Given the description of an element on the screen output the (x, y) to click on. 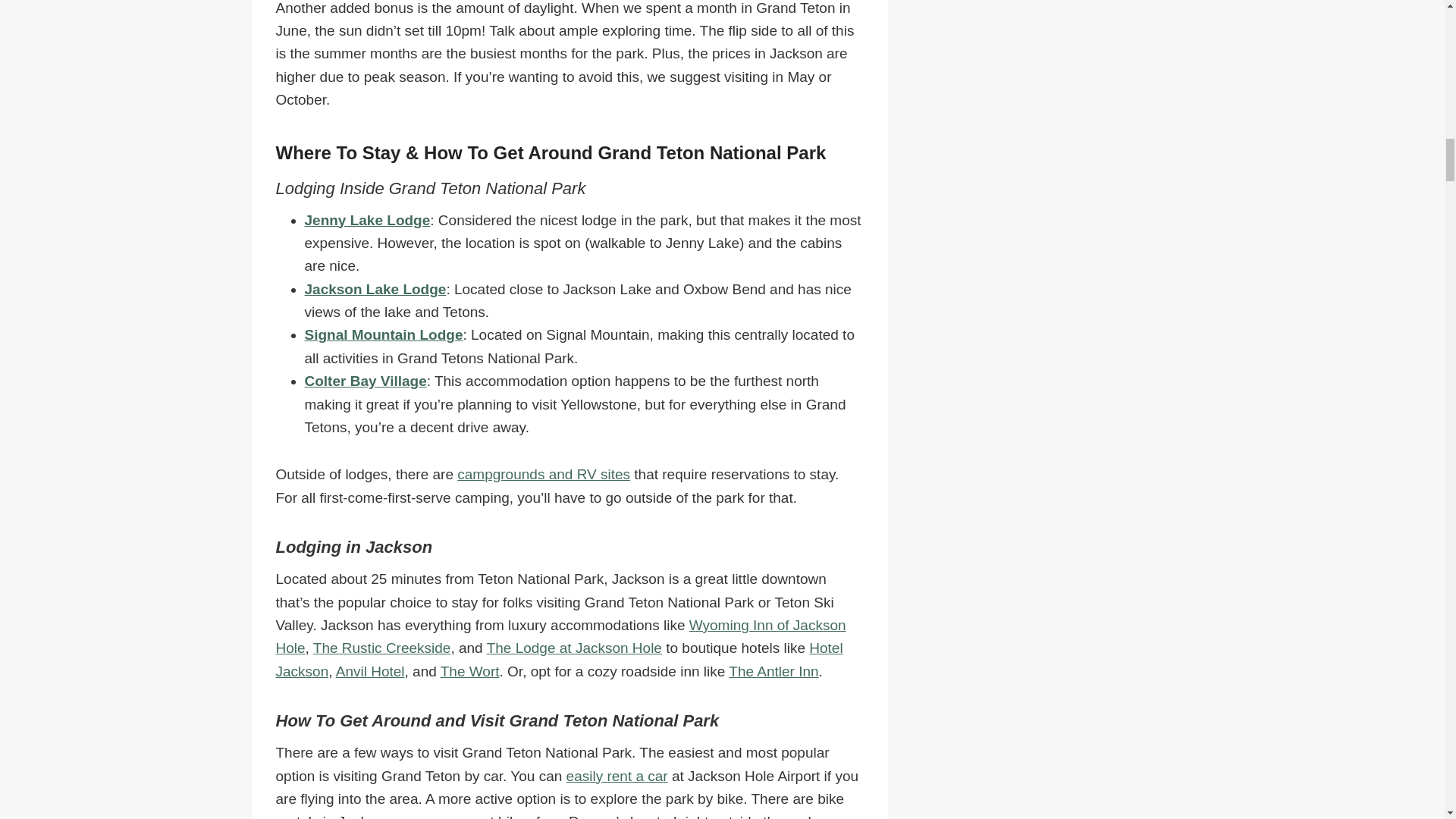
Jenny Lake Lodge (367, 220)
